Given the description of an element on the screen output the (x, y) to click on. 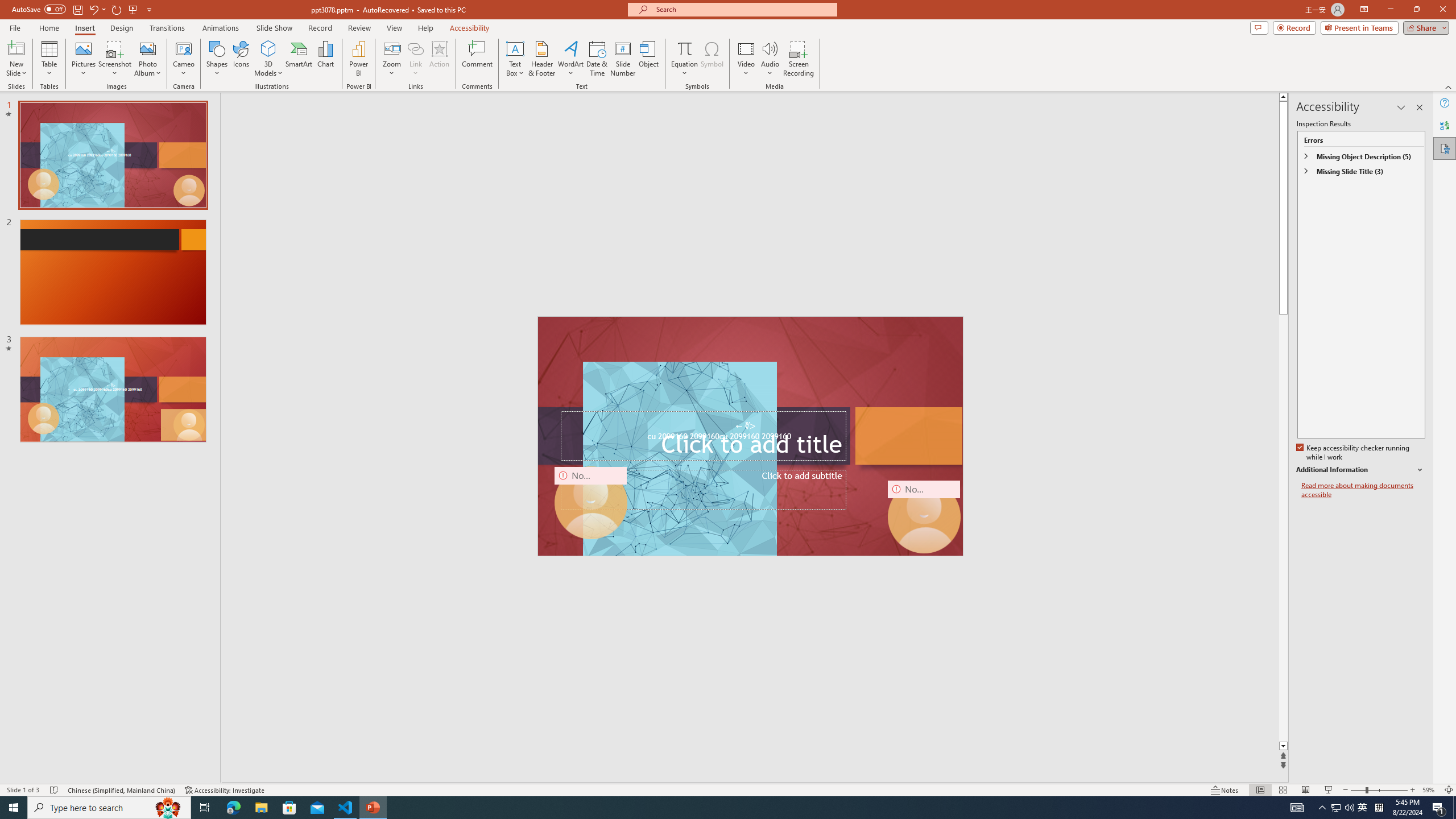
Action (439, 58)
Header & Footer... (541, 58)
Camera 16, No camera detected. (923, 516)
